Given the description of an element on the screen output the (x, y) to click on. 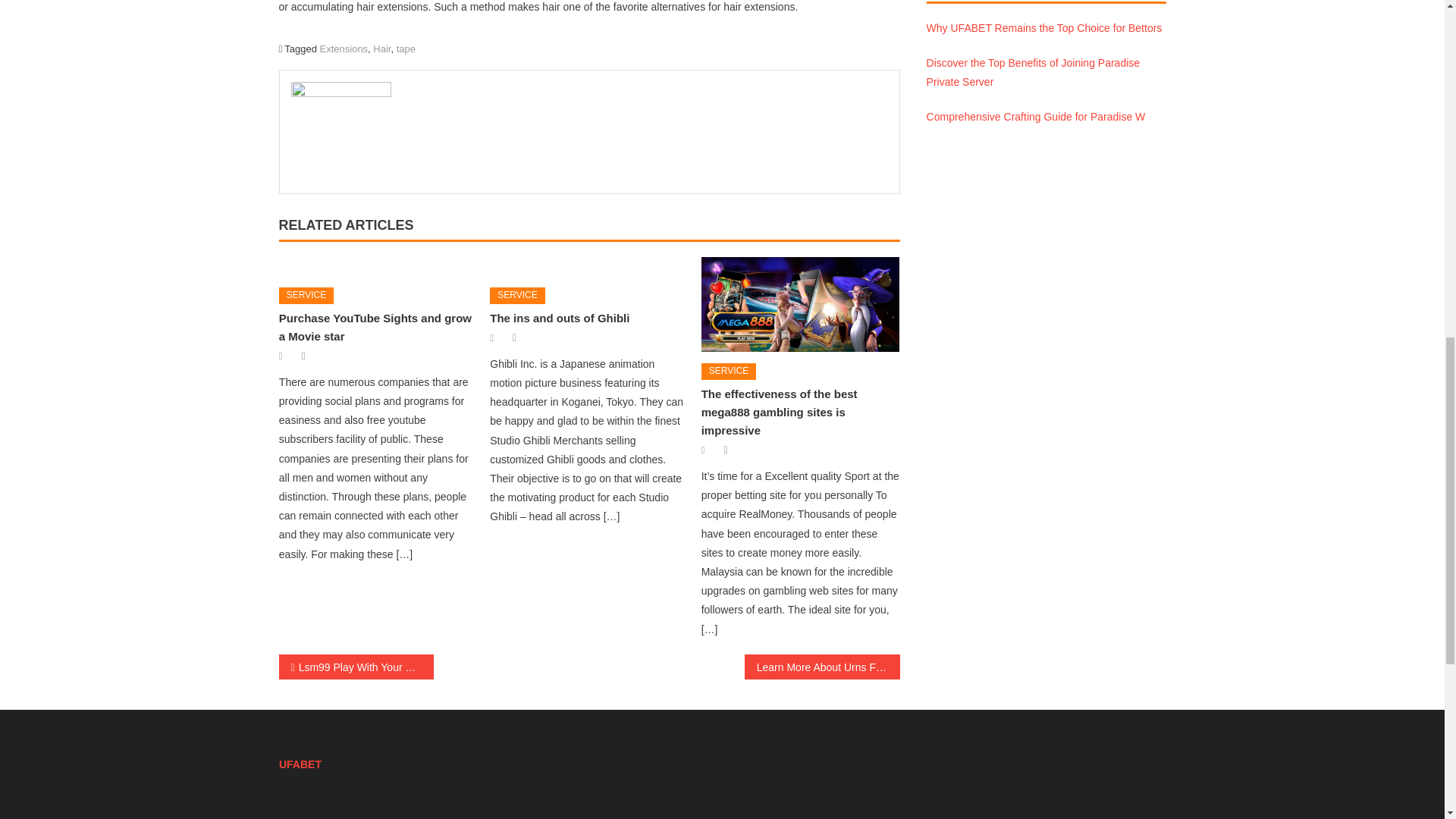
SERVICE (306, 295)
The ins and outs of Ghibli (588, 266)
Hair (381, 48)
Extensions (344, 48)
Purchase YouTube Sights and grow a Movie star (378, 266)
Purchase YouTube Sights and grow a Movie star (375, 327)
tape (405, 48)
SERVICE (516, 295)
The ins and outs of Ghibli (558, 318)
